Given the description of an element on the screen output the (x, y) to click on. 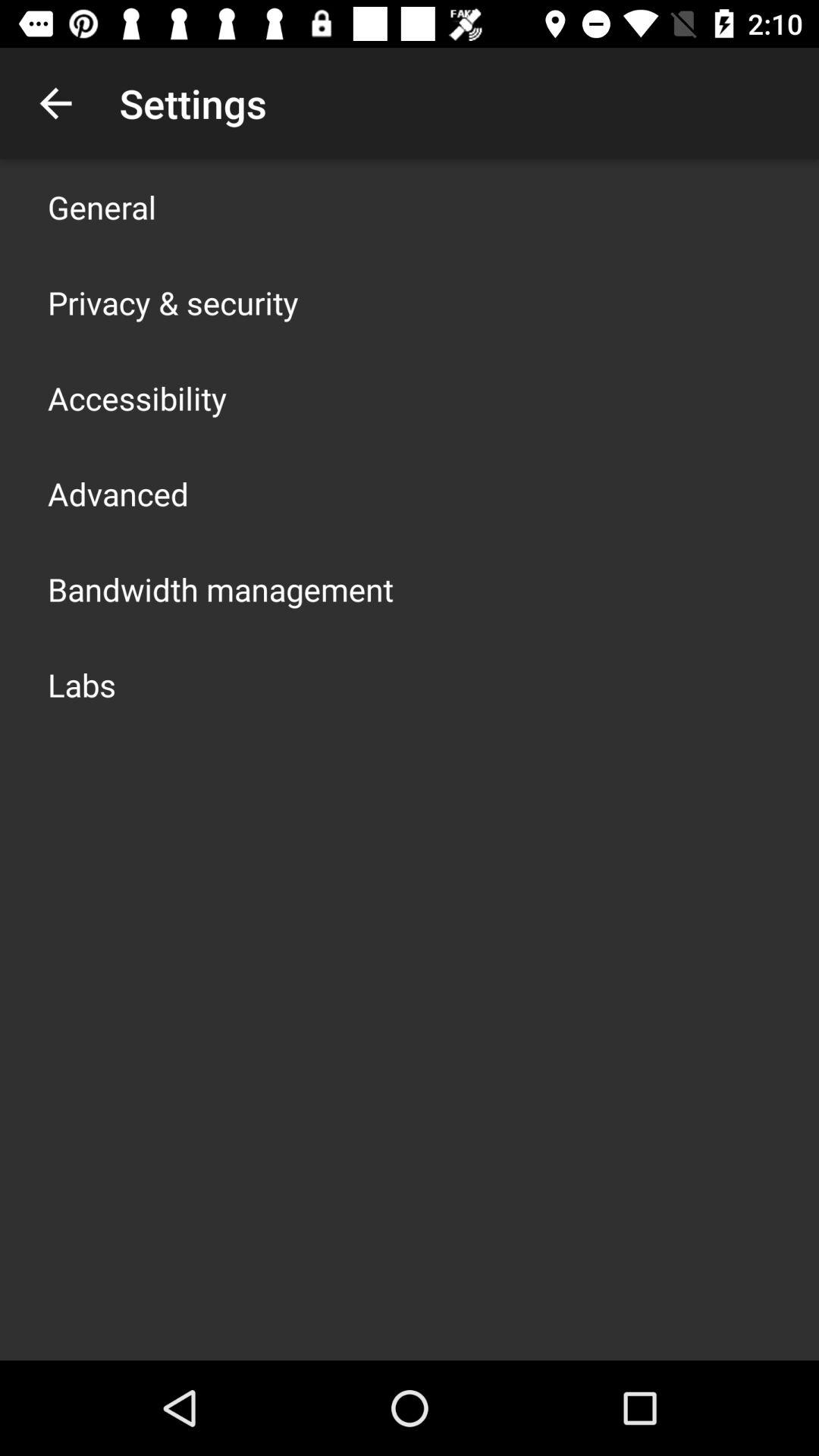
swipe to accessibility item (136, 397)
